Given the description of an element on the screen output the (x, y) to click on. 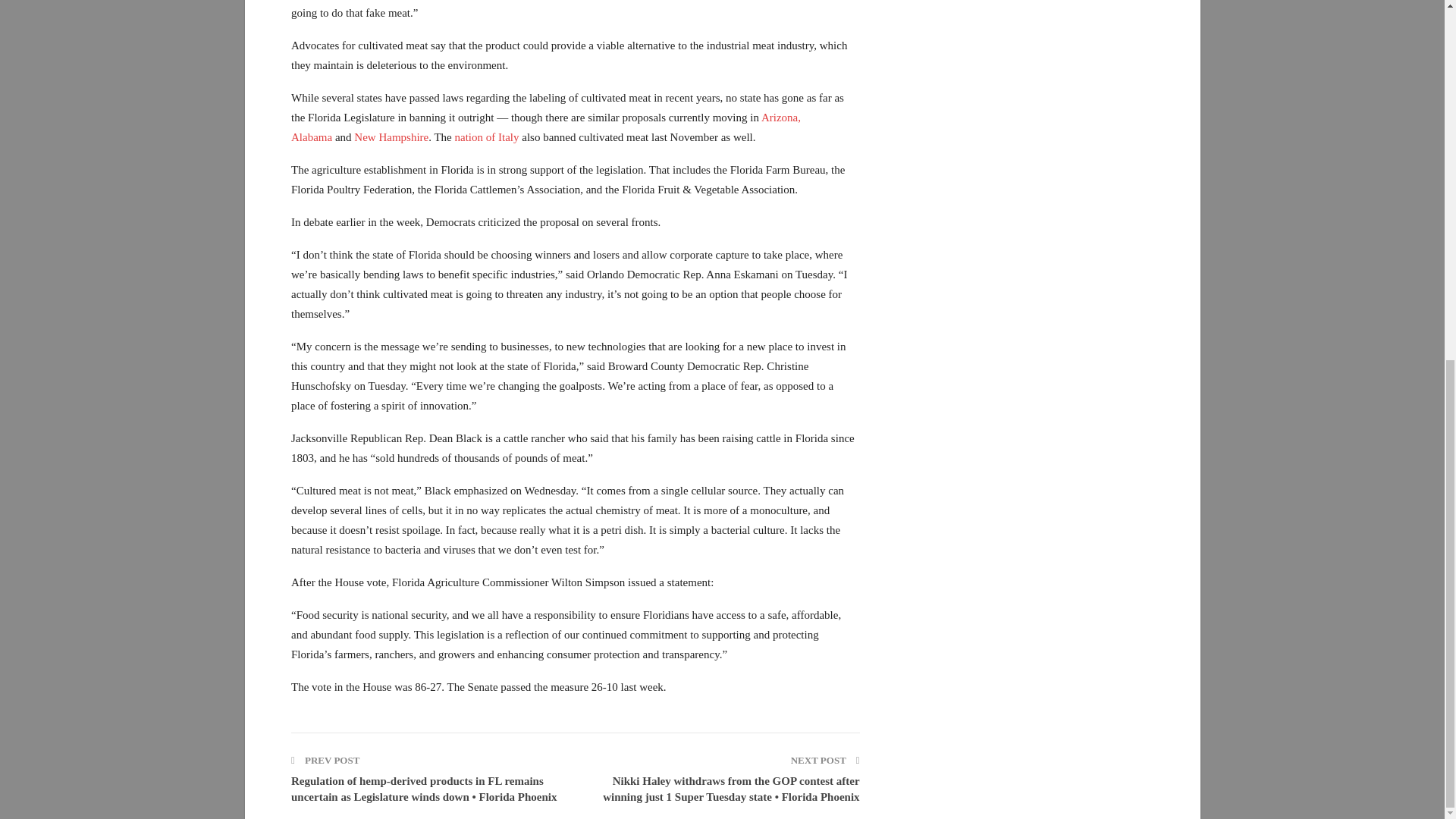
New Hampshire (390, 137)
Arizona, (780, 117)
Alabama (311, 137)
nation of Italy (486, 137)
